Given the description of an element on the screen output the (x, y) to click on. 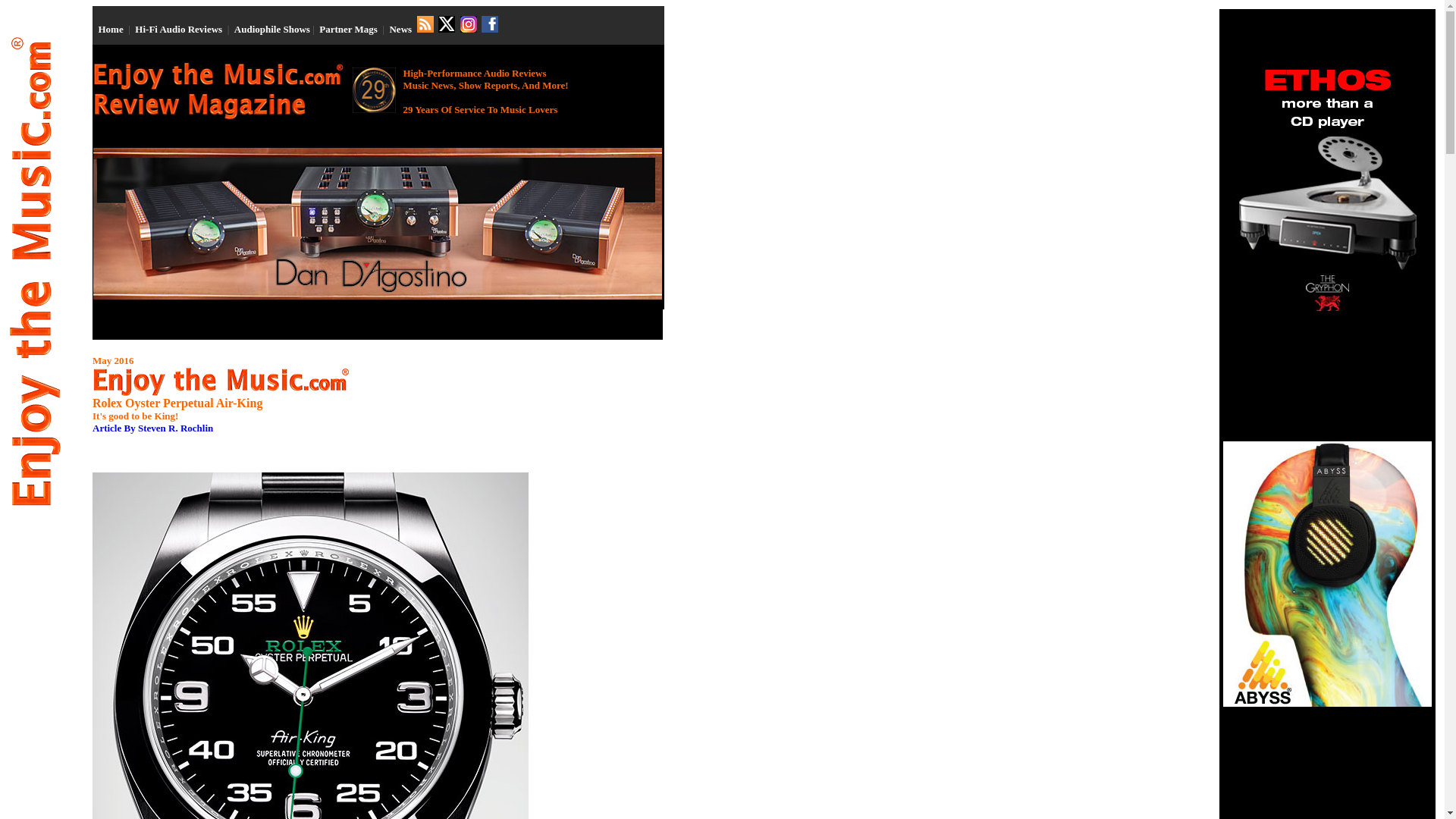
Article By Steven R. Rochlin (152, 428)
Hi-Fi Audio Reviews (178, 29)
Home (111, 29)
Audiophile Shows (272, 29)
News (400, 29)
Partner Mags (347, 29)
